Given the description of an element on the screen output the (x, y) to click on. 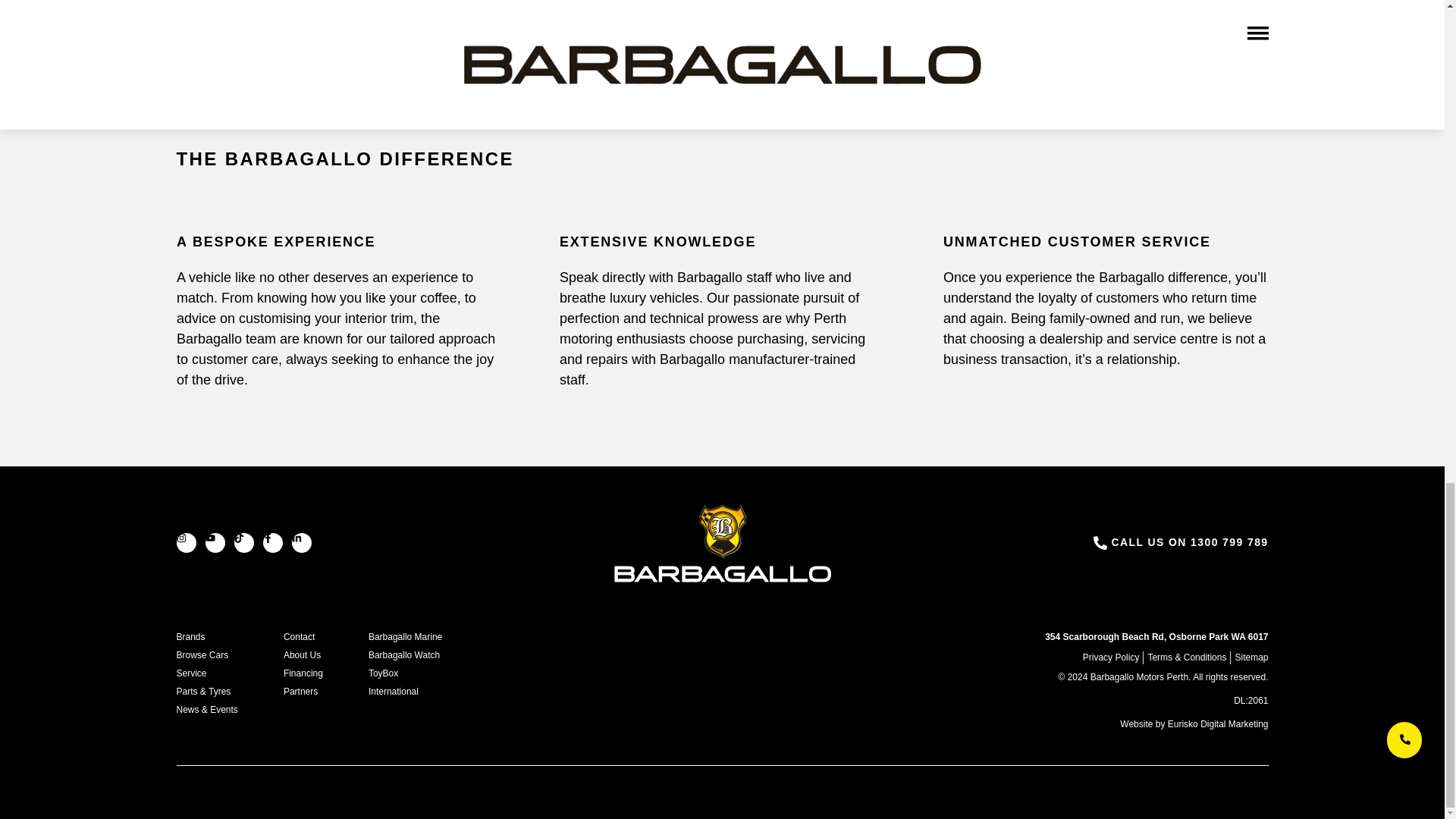
Brands (206, 637)
Facebook-f (272, 542)
Linkedin-in (301, 542)
CALL US ON 1300 799 789 (1189, 541)
Youtube (214, 542)
Tiktok (242, 542)
Instagram (185, 542)
Browse Cars (206, 655)
Service (206, 673)
